Given the description of an element on the screen output the (x, y) to click on. 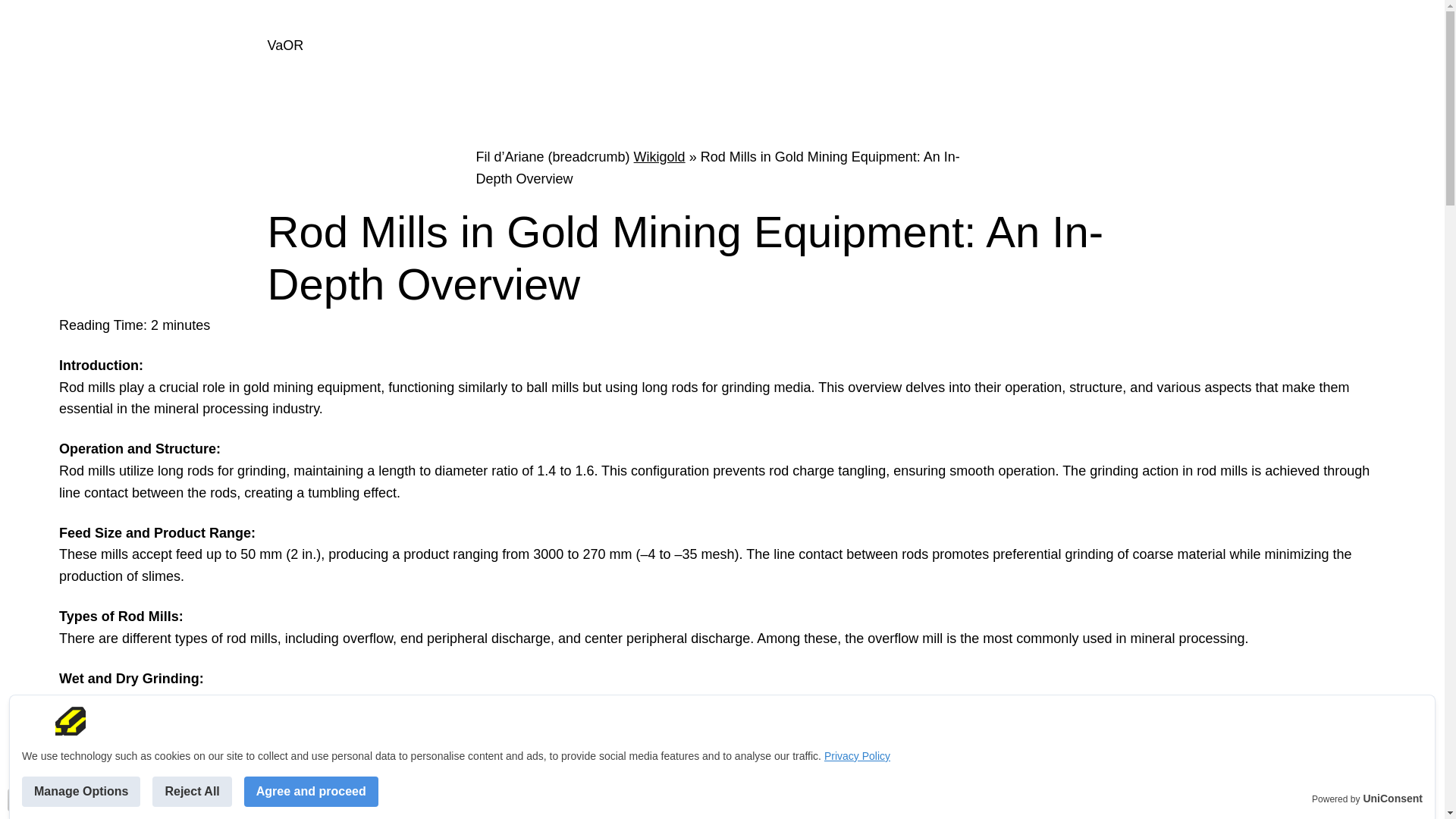
Reject All (191, 791)
Agree and proceed (311, 791)
Wikigold (659, 156)
UniConsent Consent Manager (1392, 798)
Privacy Policy (856, 756)
VaOR (284, 45)
Manage Consent (18, 799)
Manage Options (80, 791)
UniConsent (1392, 798)
